Given the description of an element on the screen output the (x, y) to click on. 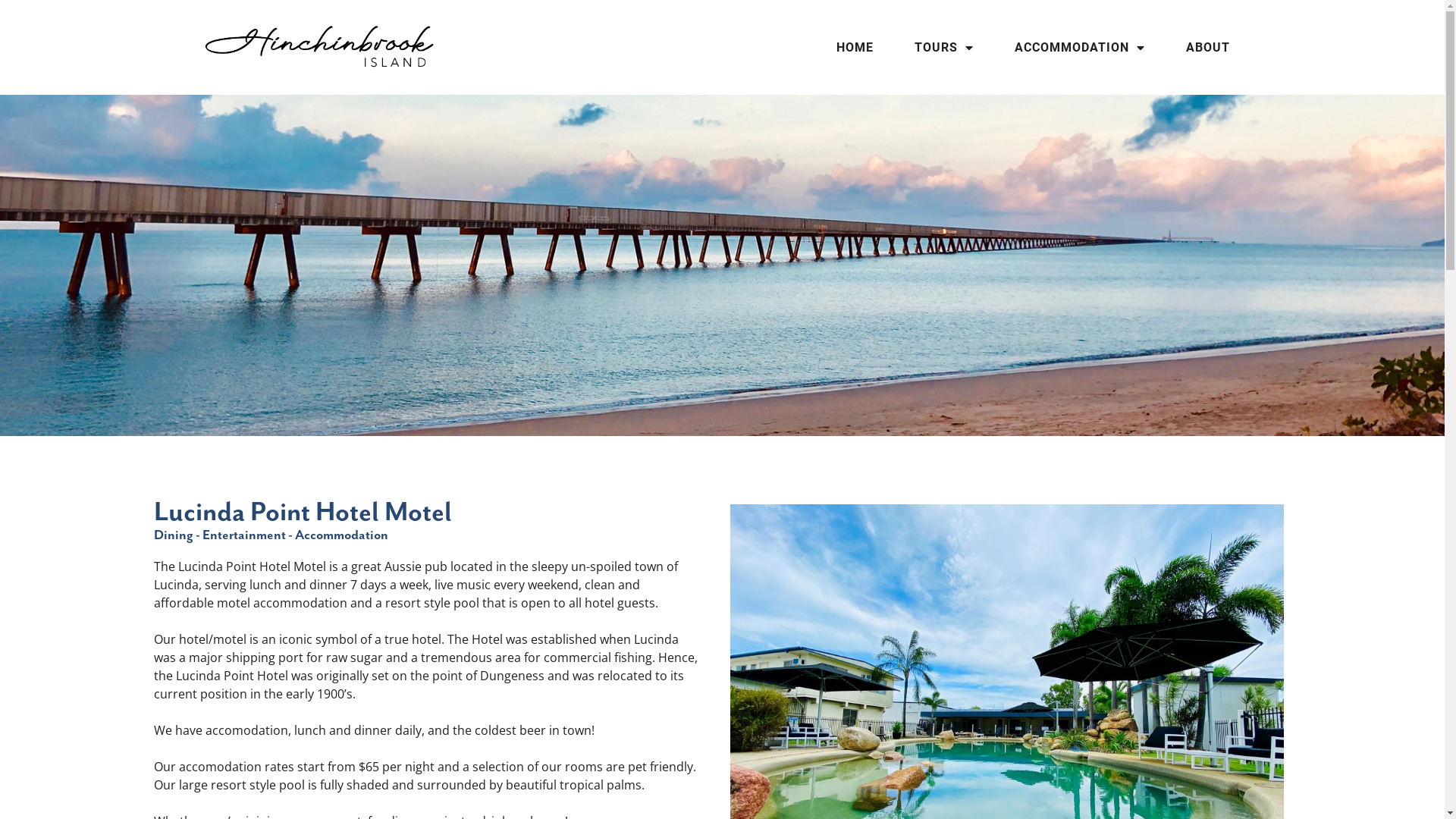
HOME Element type: text (854, 47)
ABOUT Element type: text (1207, 47)
ACCOMMODATION Element type: text (1079, 47)
TOURS Element type: text (943, 47)
